Given the description of an element on the screen output the (x, y) to click on. 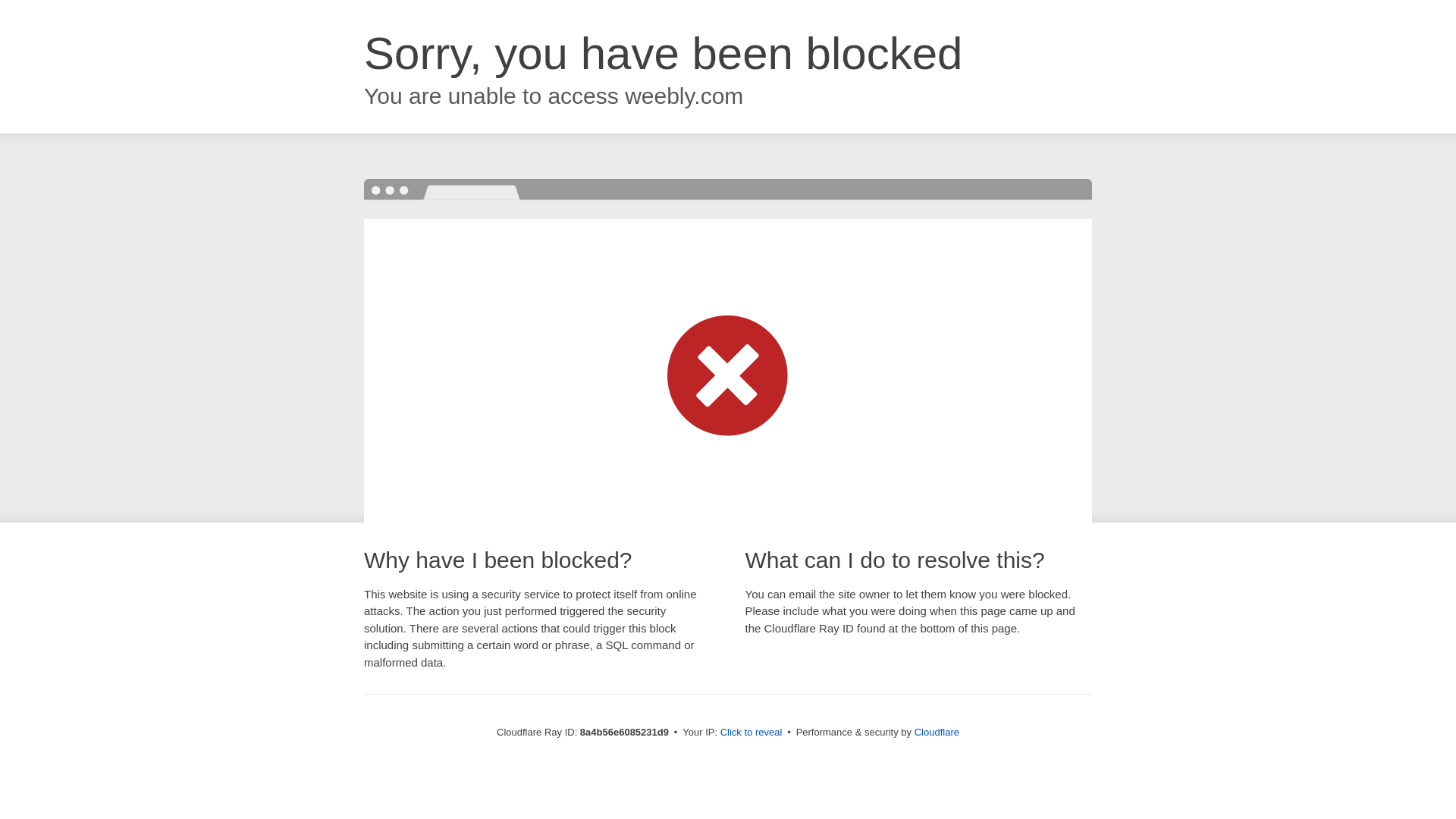
Click to reveal (751, 732)
Cloudflare (936, 731)
